Given the description of an element on the screen output the (x, y) to click on. 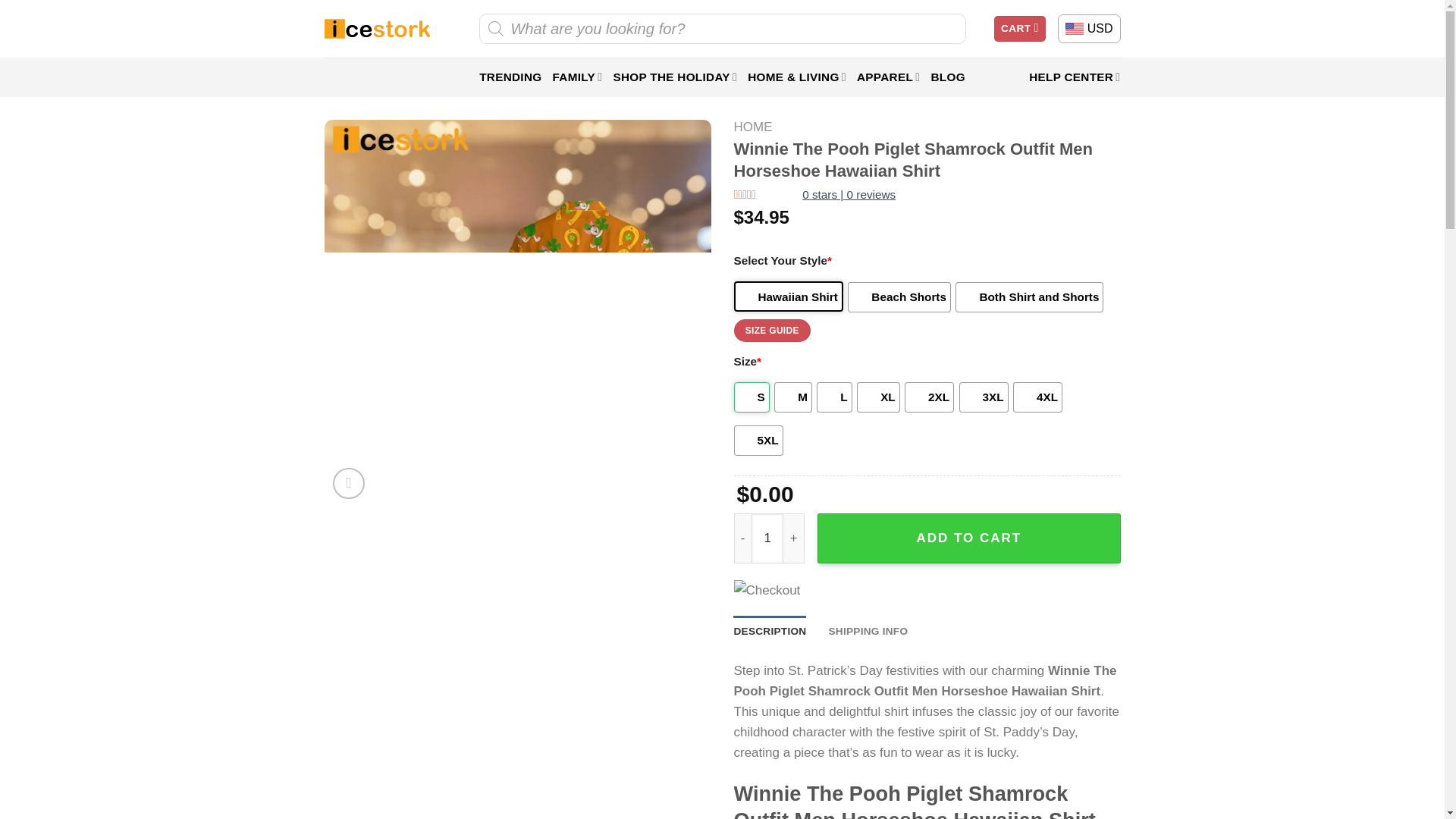
Hawaiian Shirt (788, 296)
Both Shirt and Shorts (1029, 296)
HOME (753, 126)
Beach Shorts (898, 296)
SHOP THE HOLIDAY (674, 77)
CART (1019, 28)
TRENDING (510, 77)
HELP CENTER (1074, 77)
Icestork - Best Clothings With Cheap Price (376, 28)
APPAREL (888, 77)
